Given the description of an element on the screen output the (x, y) to click on. 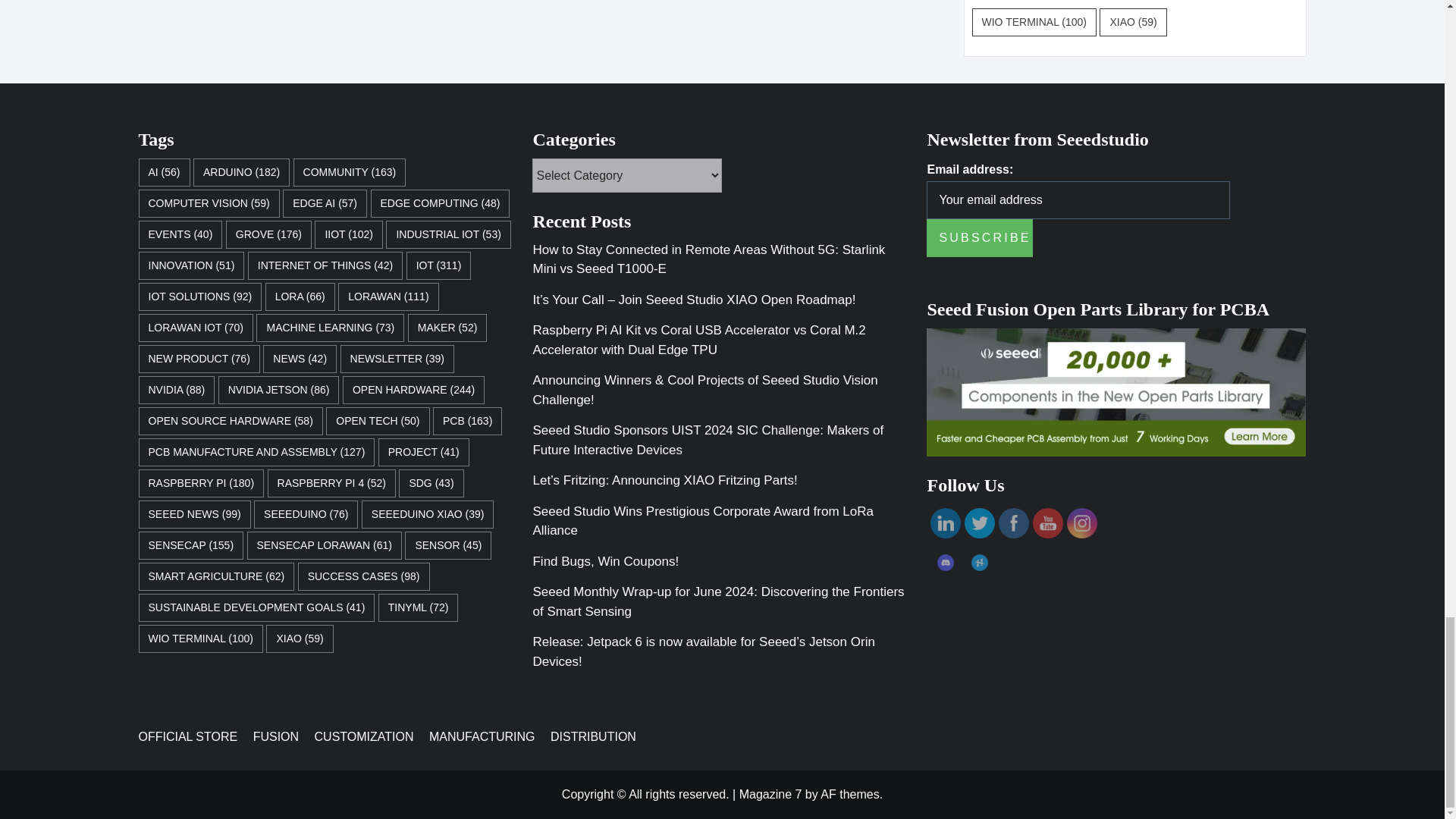
Subscribe now (979, 238)
